Given the description of an element on the screen output the (x, y) to click on. 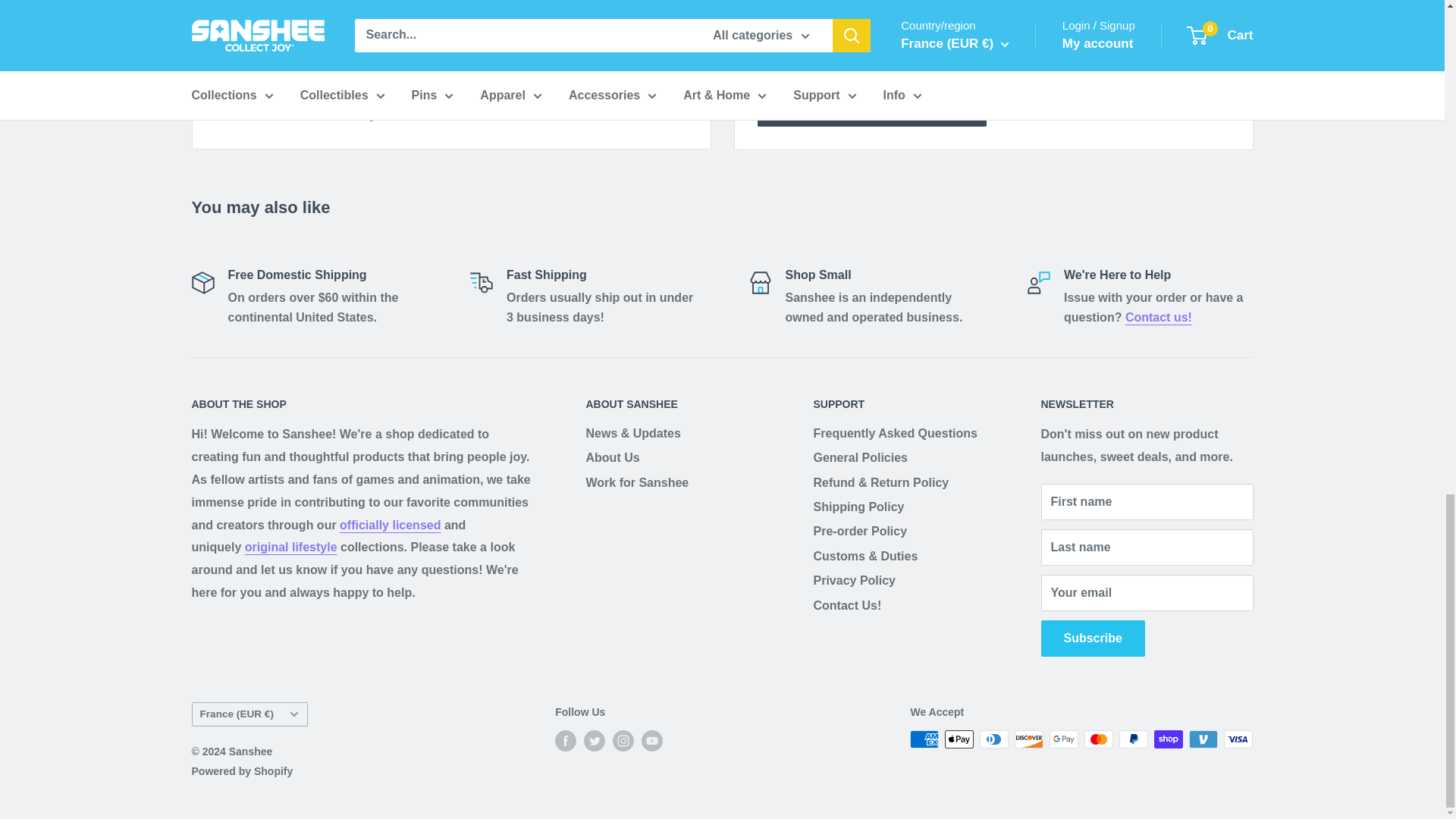
Contact Us! (1158, 317)
The Officially Licensed Collections from Sanshee (390, 524)
Sanshee Original Collection (290, 546)
